Given the description of an element on the screen output the (x, y) to click on. 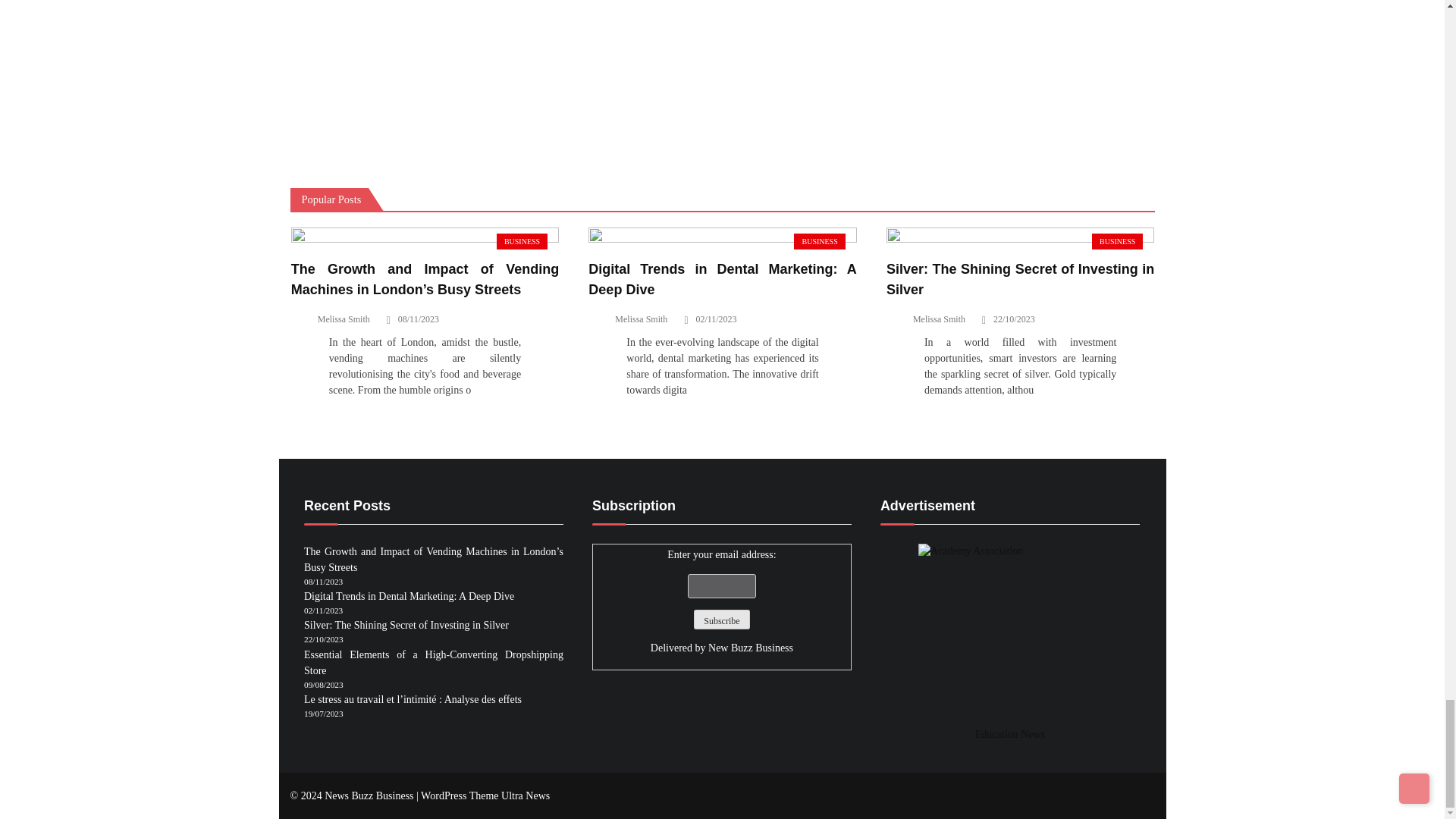
Subscribe (721, 619)
